Given the description of an element on the screen output the (x, y) to click on. 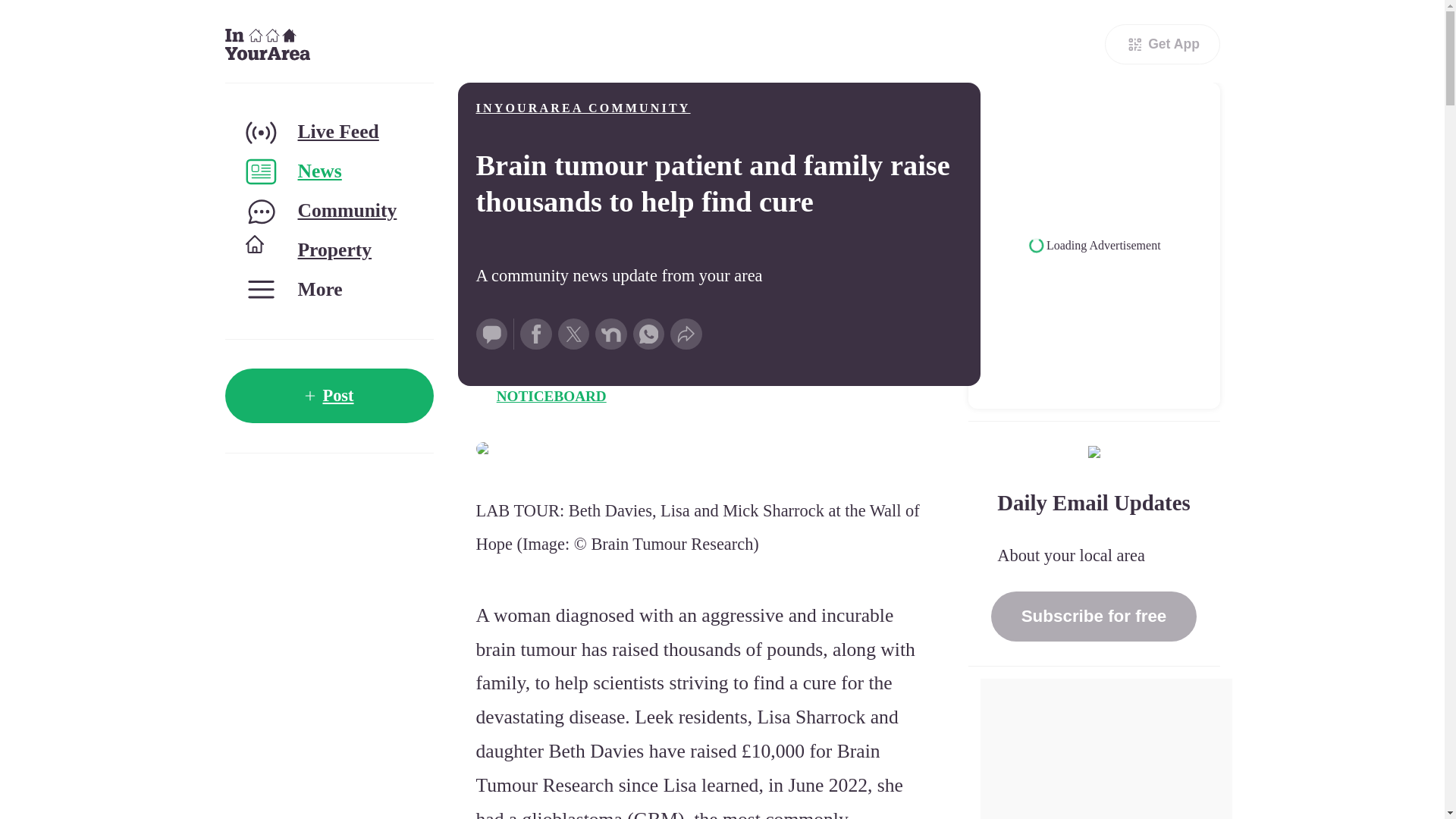
News (328, 171)
Community (328, 210)
Get App (1162, 44)
Post (328, 395)
Share to Facebook (535, 334)
Live Feed (328, 132)
Share to X (573, 334)
Share to Whatsapp (649, 334)
Social Button (492, 334)
Get App (1162, 44)
